Given the description of an element on the screen output the (x, y) to click on. 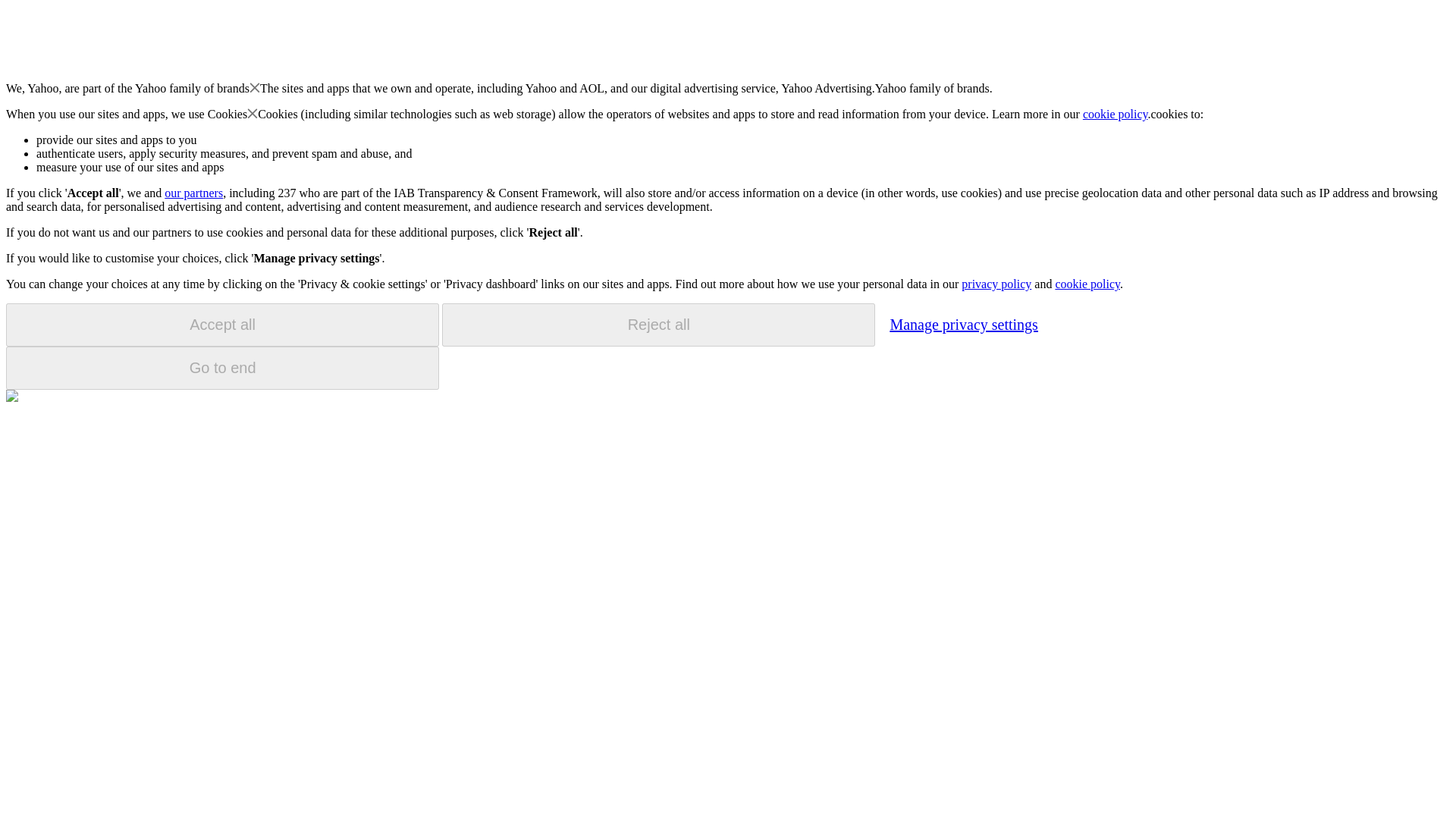
our partners (193, 192)
cookie policy (1086, 283)
privacy policy (995, 283)
Accept all (222, 324)
cookie policy (1115, 113)
Reject all (658, 324)
Manage privacy settings (963, 323)
Go to end (222, 367)
